Given the description of an element on the screen output the (x, y) to click on. 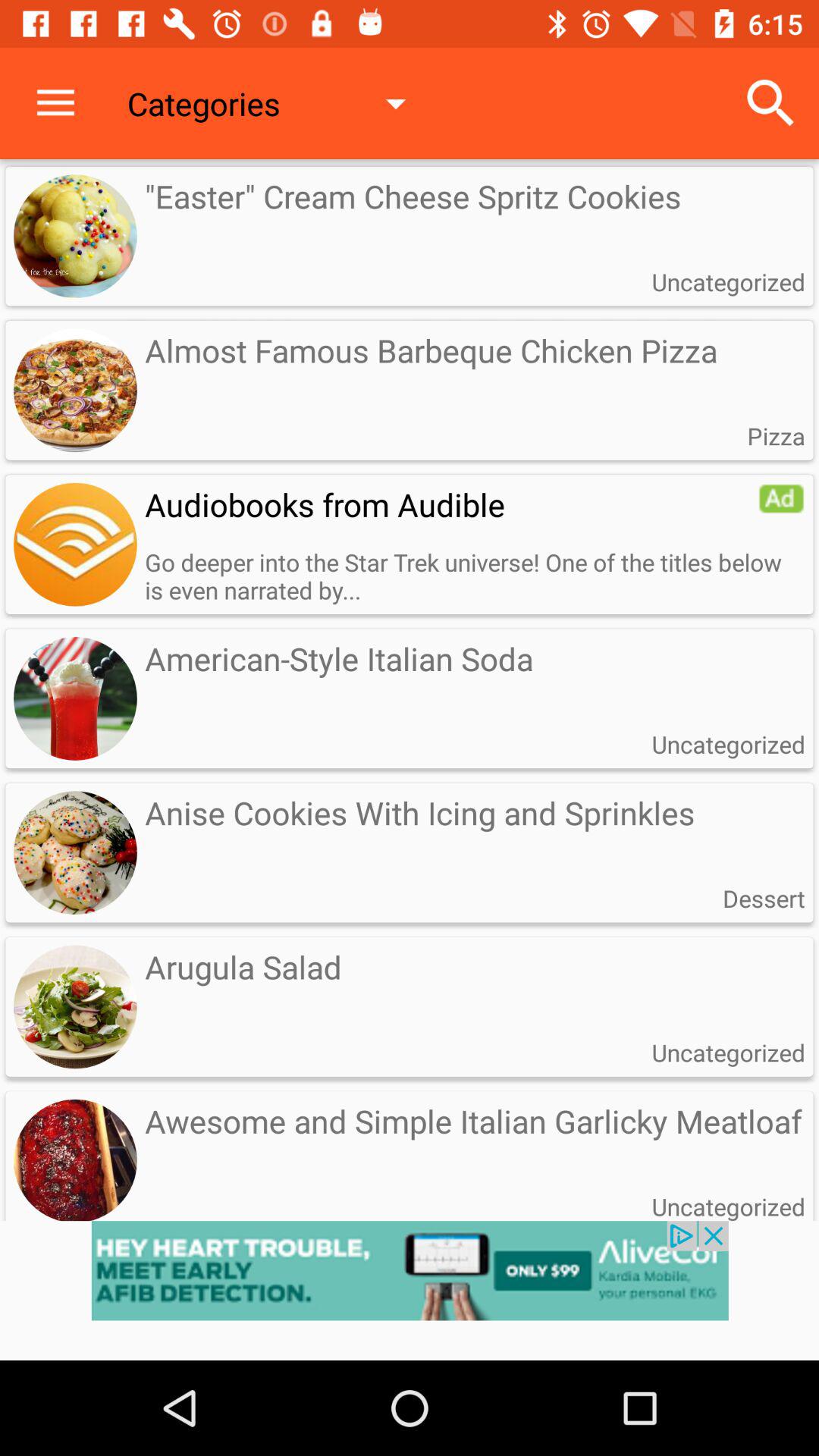
audio button (75, 544)
